Given the description of an element on the screen output the (x, y) to click on. 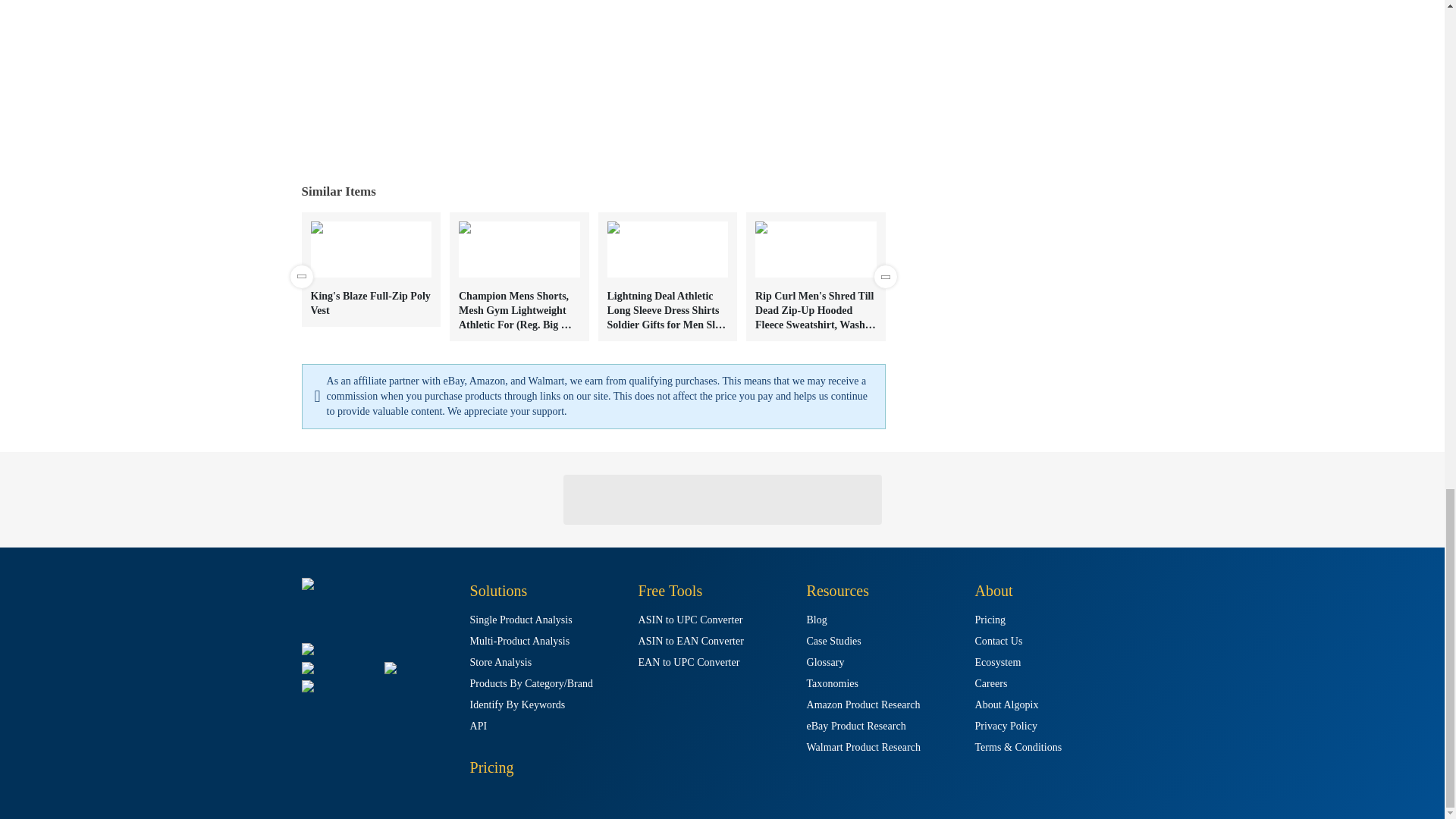
King's Blaze Full-Zip Poly Vest (371, 269)
